Given the description of an element on the screen output the (x, y) to click on. 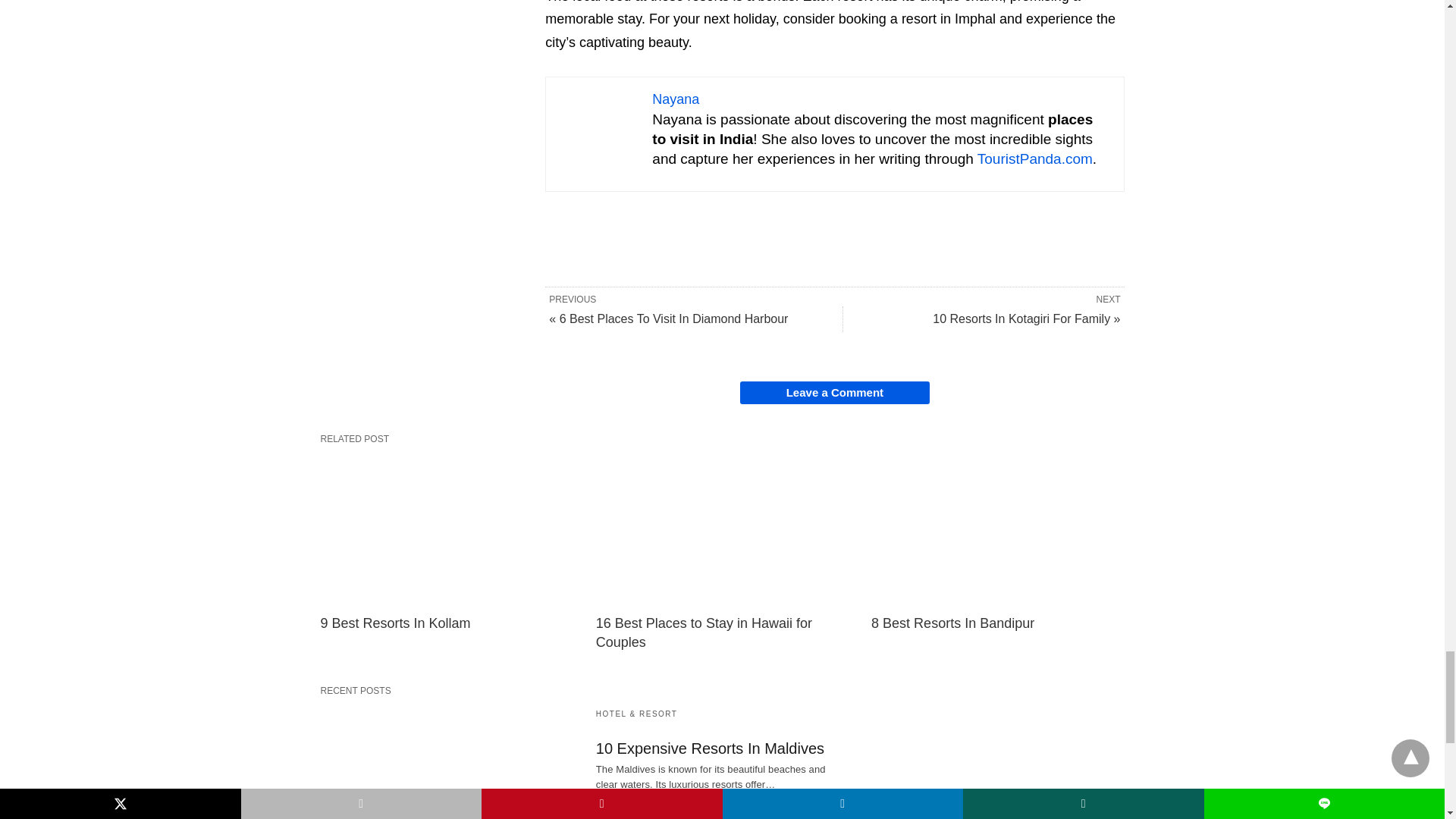
16 Best Places to Stay in Hawaii for Couples (703, 632)
8 Best Resorts In Bandipur (951, 622)
9 Best Resorts In Kollam (446, 761)
Nayana (675, 99)
8 Best Resorts In Bandipur (997, 529)
9 Best Resorts In Kollam (395, 622)
9 Best Resorts In Kollam (446, 529)
10 Expensive Resorts In Maldives (709, 748)
16 Best Places to Stay in Hawaii for Couples (703, 632)
16 Best Places to Stay in Hawaii for Couples (721, 529)
